Given the description of an element on the screen output the (x, y) to click on. 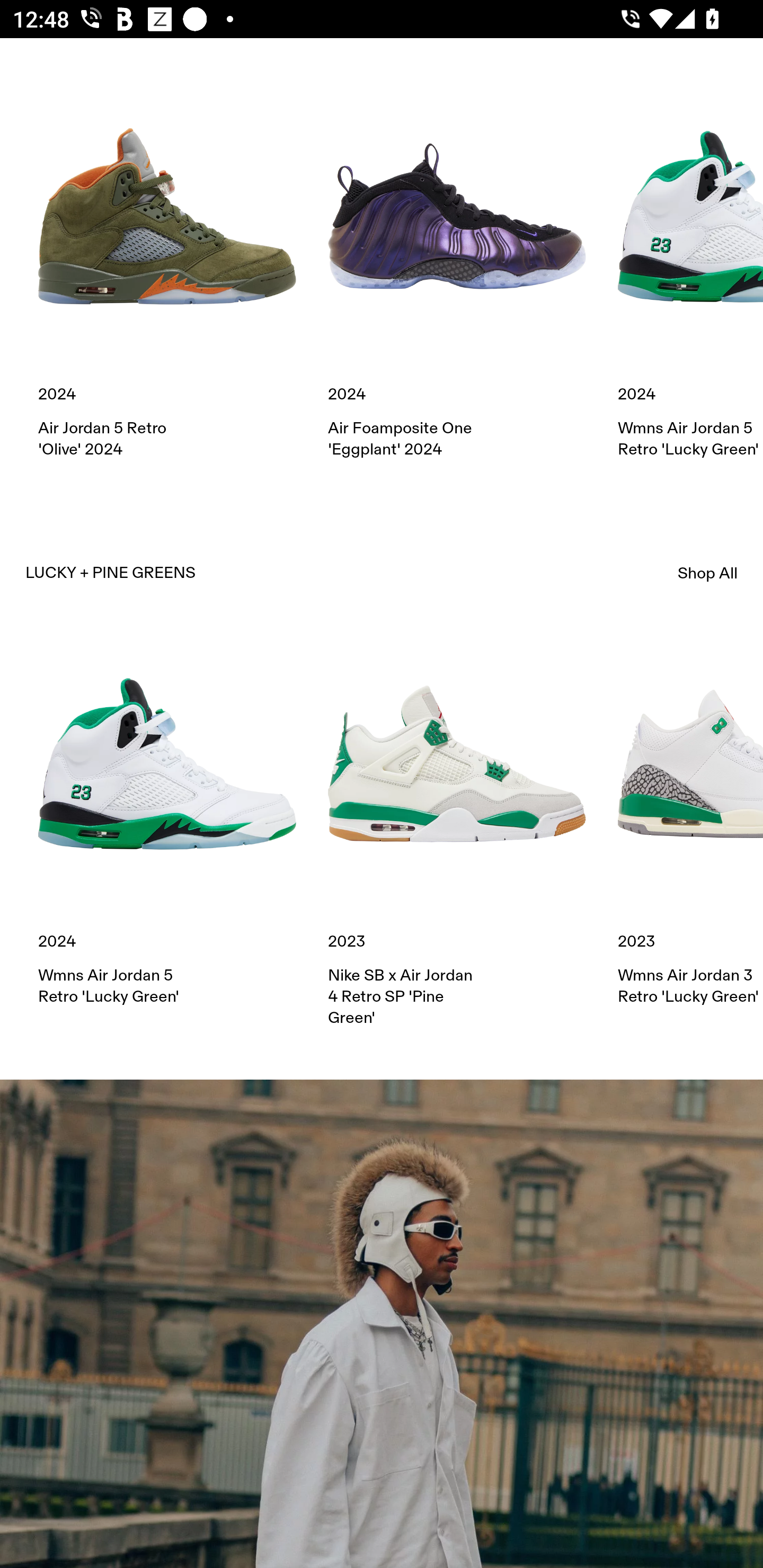
2024 Air Jordan 5 Retro 'Olive' 2024 (167, 273)
2024 Air Foamposite One 'Eggplant' 2024 (456, 273)
2024 Wmns Air Jordan 5 Retro 'Lucky Green' (690, 273)
Shop All (707, 572)
2024 Wmns Air Jordan 5 Retro 'Lucky Green' (167, 821)
2023 Nike SB x Air Jordan 4 Retro SP 'Pine Green' (456, 831)
2023 Wmns Air Jordan 3 Retro 'Lucky Green' (690, 821)
